Given the description of an element on the screen output the (x, y) to click on. 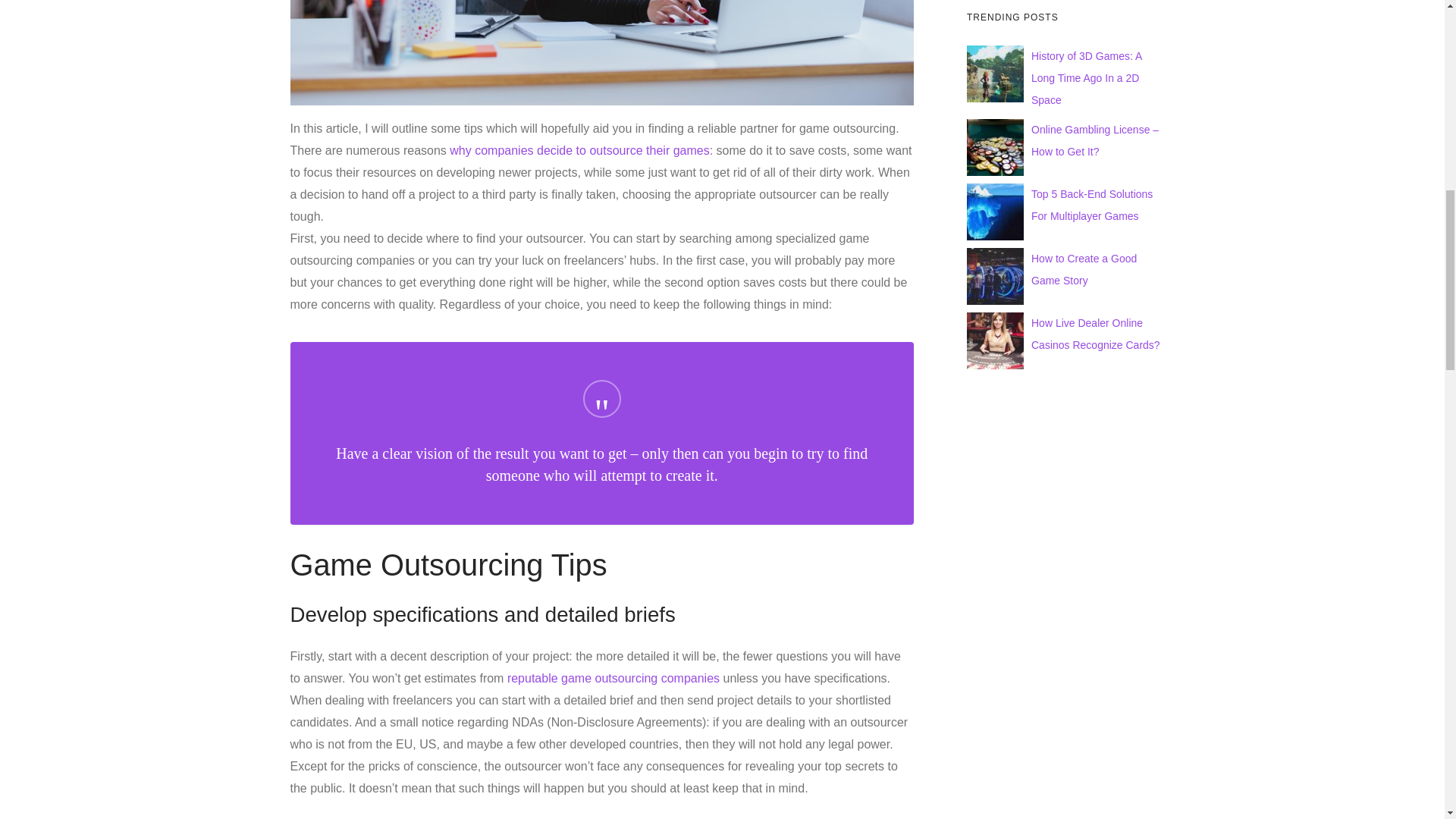
How Live Dealer Online Casinos Recognize Cards? (1095, 333)
How to Create a Good Game Story (1083, 269)
Top 5 Back-End Solutions For Multiplayer Games (1091, 204)
reputable game outsourcing companies (612, 677)
why companies decide to outsource their games (579, 150)
History of 3D Games: A Long Time Ago In a 2D Space (1085, 77)
